Given the description of an element on the screen output the (x, y) to click on. 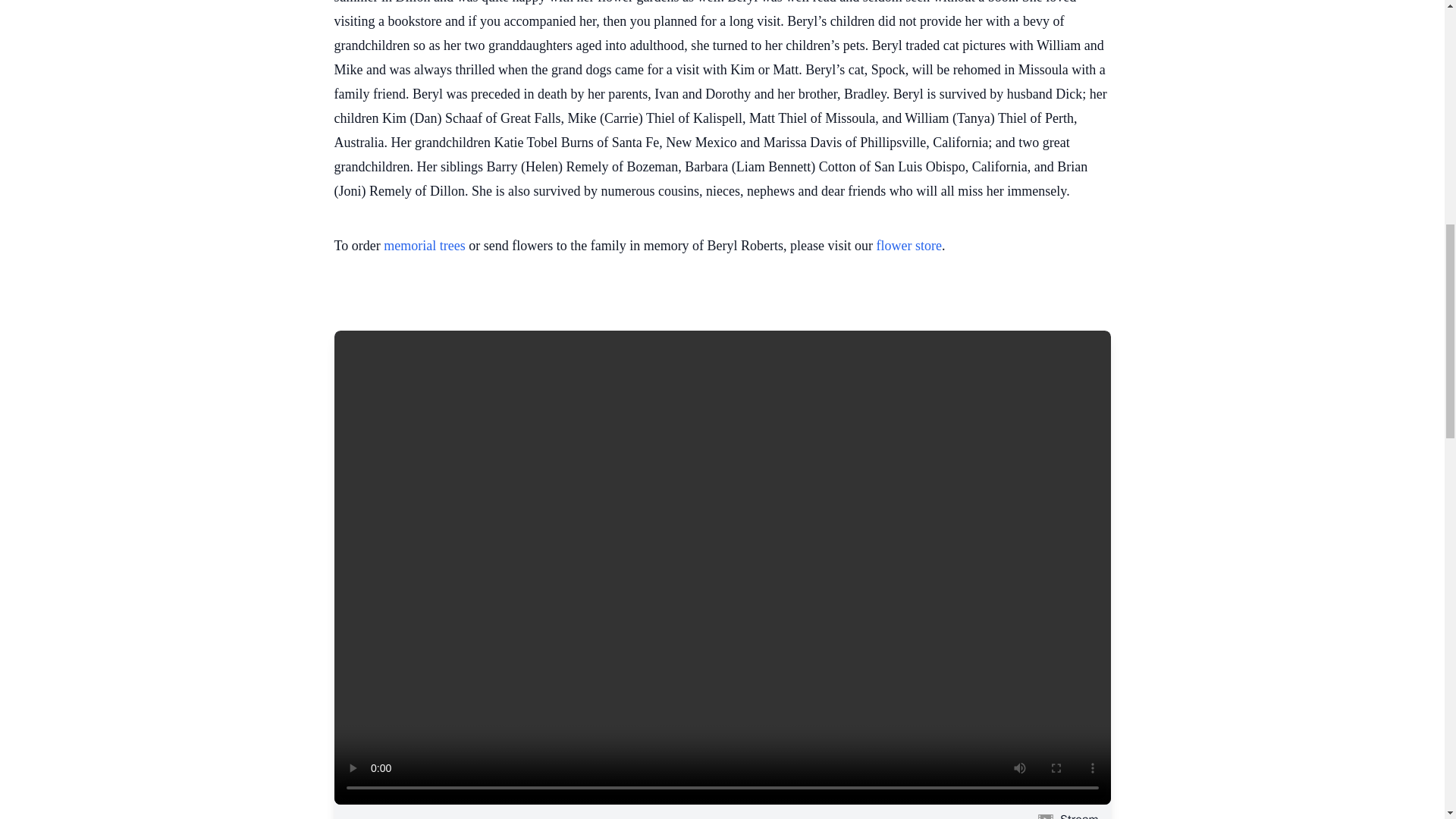
flower store (909, 245)
memorial trees (424, 245)
